Given the description of an element on the screen output the (x, y) to click on. 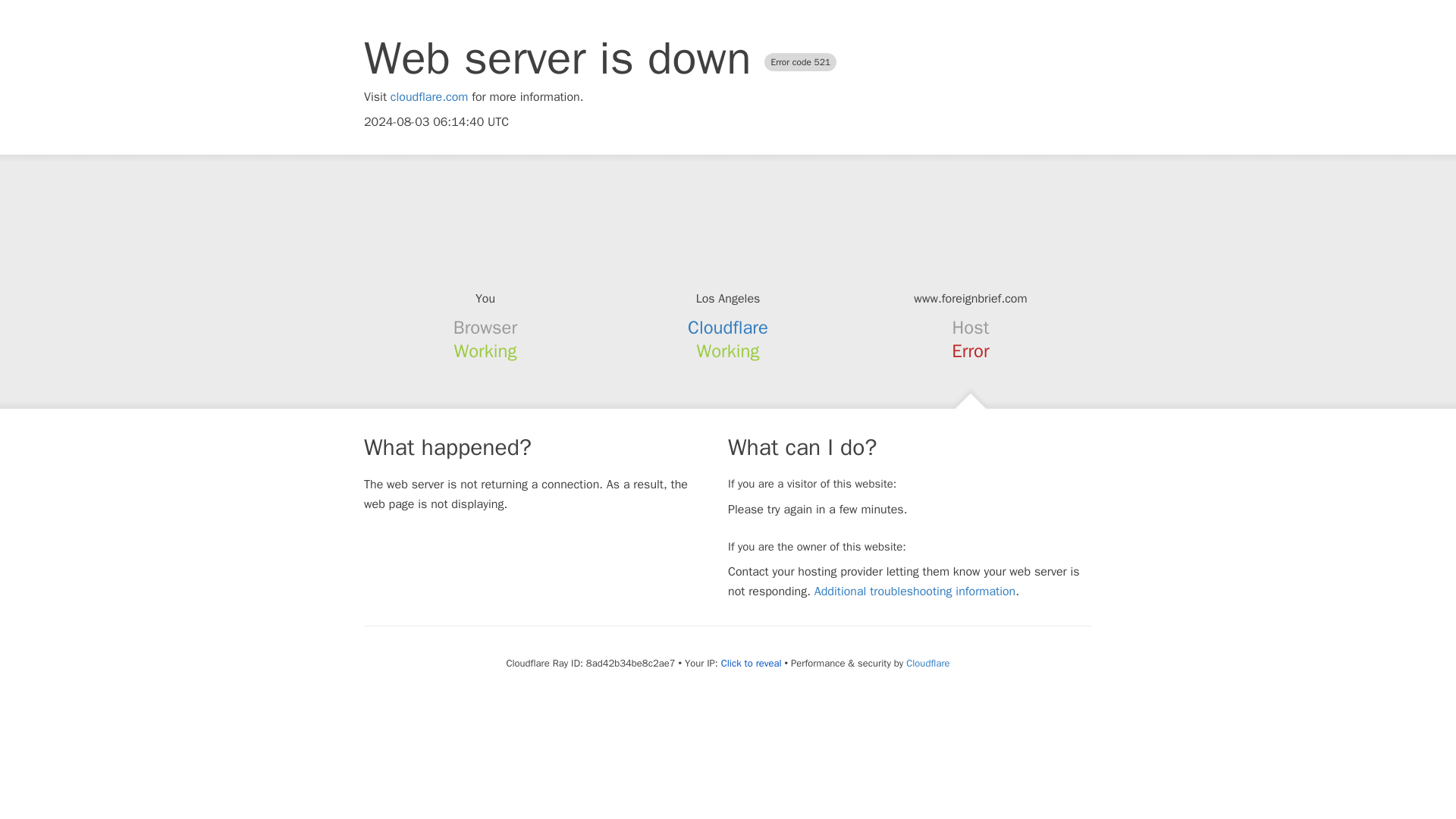
Click to reveal (750, 663)
Additional troubleshooting information (913, 590)
Cloudflare (927, 662)
cloudflare.com (429, 96)
Cloudflare (727, 327)
